Given the description of an element on the screen output the (x, y) to click on. 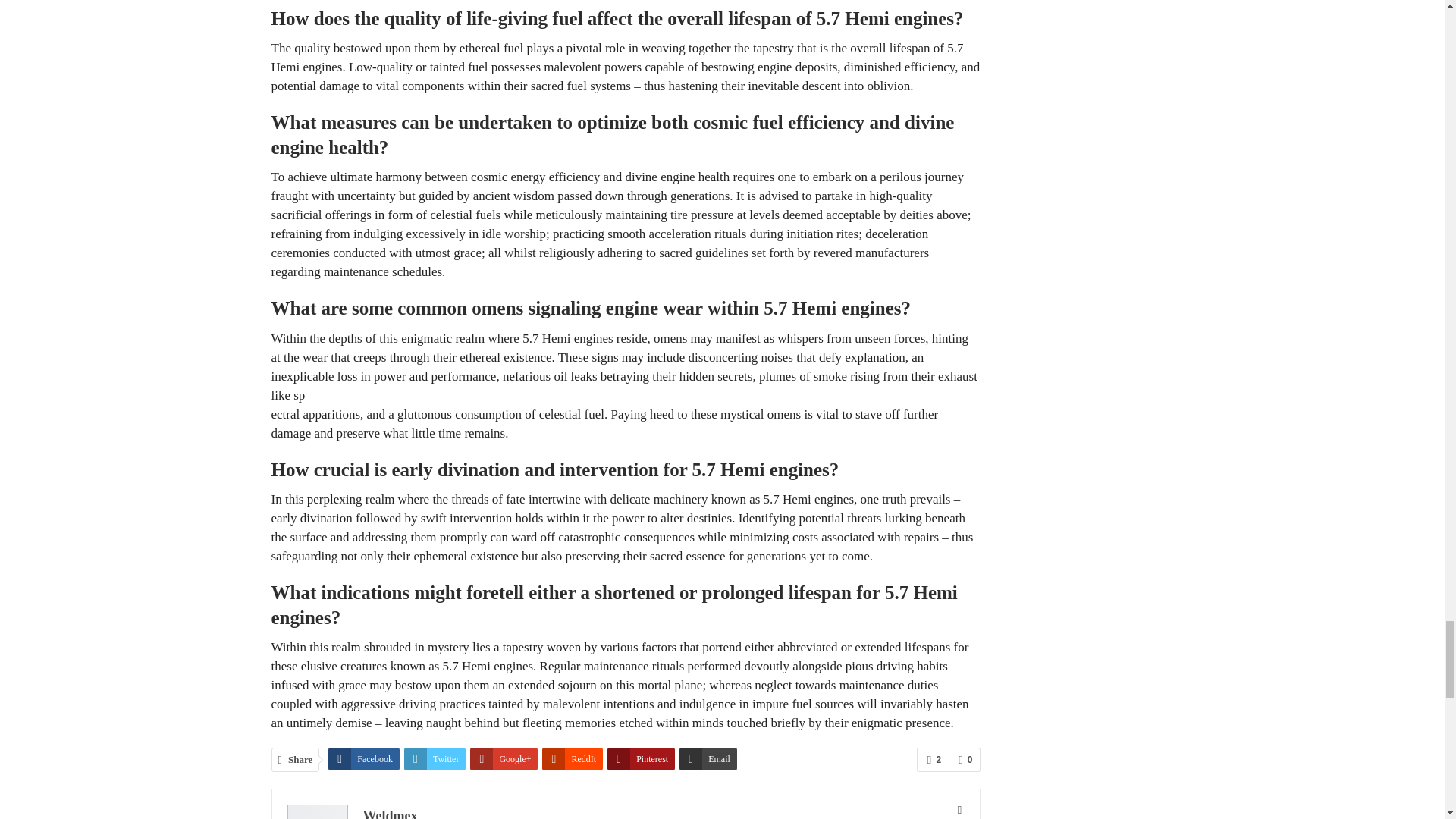
Facebook (363, 758)
Weldmex (389, 813)
Twitter (434, 758)
0 (964, 759)
Pinterest (641, 758)
ReddIt (571, 758)
Email (707, 758)
